Given the description of an element on the screen output the (x, y) to click on. 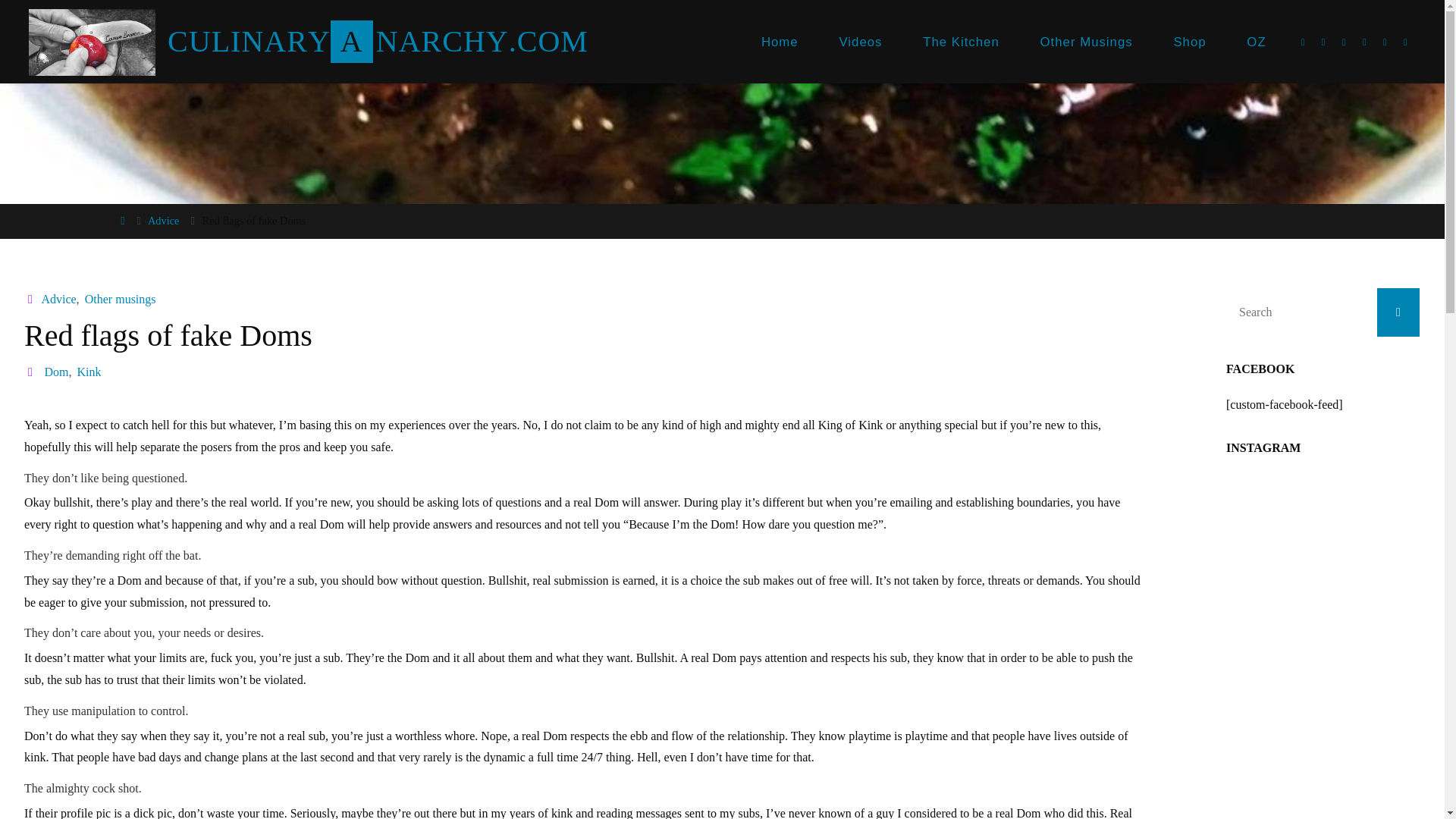
CulinaryAnarchy.com (92, 41)
CULINARYANARCHY.COM (377, 41)
